Given the description of an element on the screen output the (x, y) to click on. 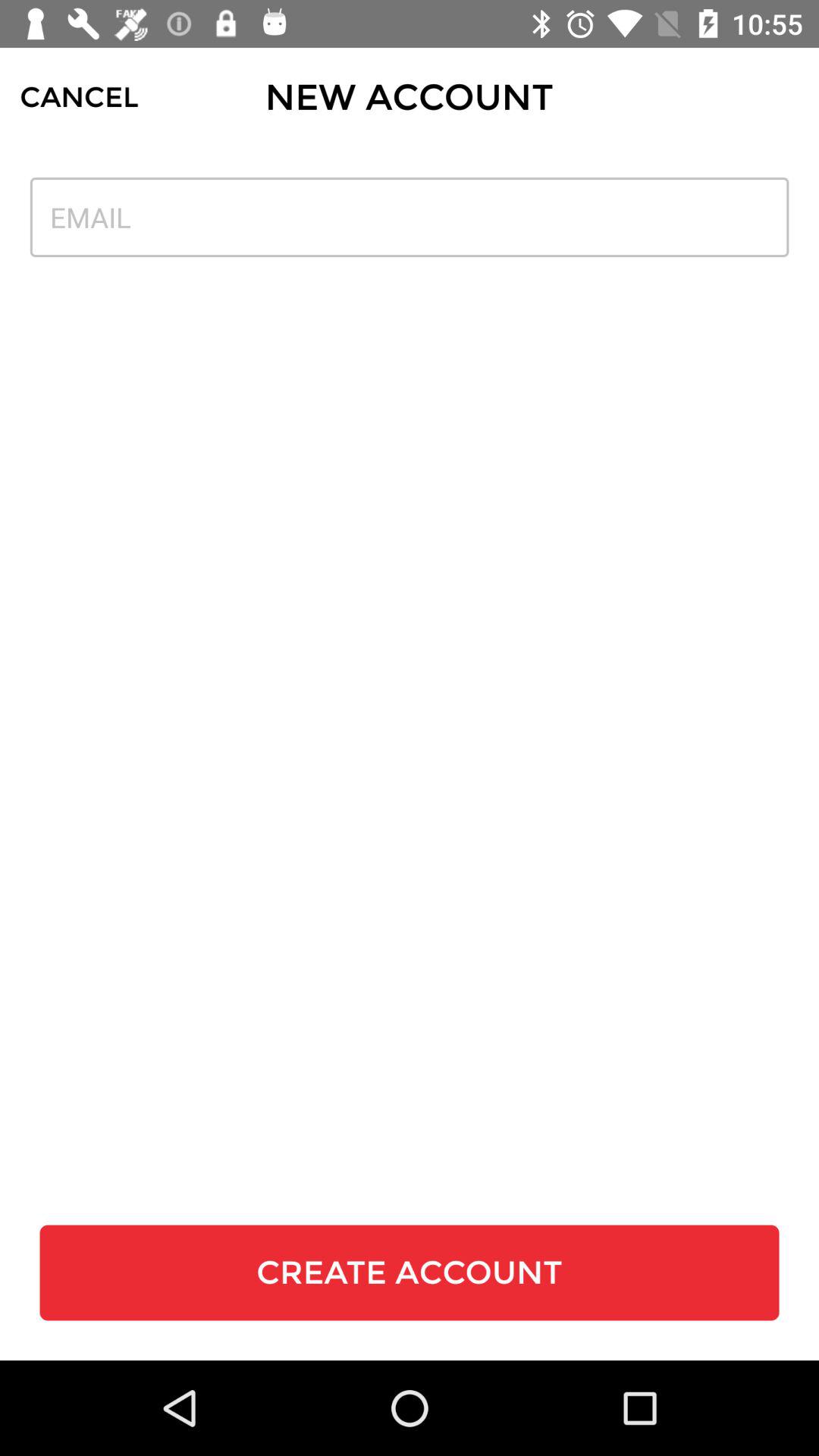
turn off icon above create account icon (409, 217)
